Given the description of an element on the screen output the (x, y) to click on. 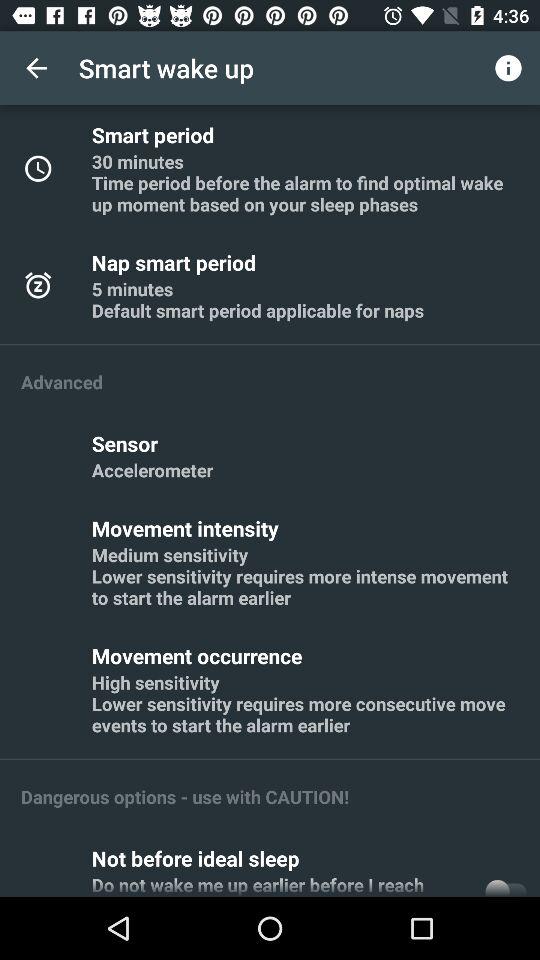
tap the icon below not before ideal icon (282, 884)
